Given the description of an element on the screen output the (x, y) to click on. 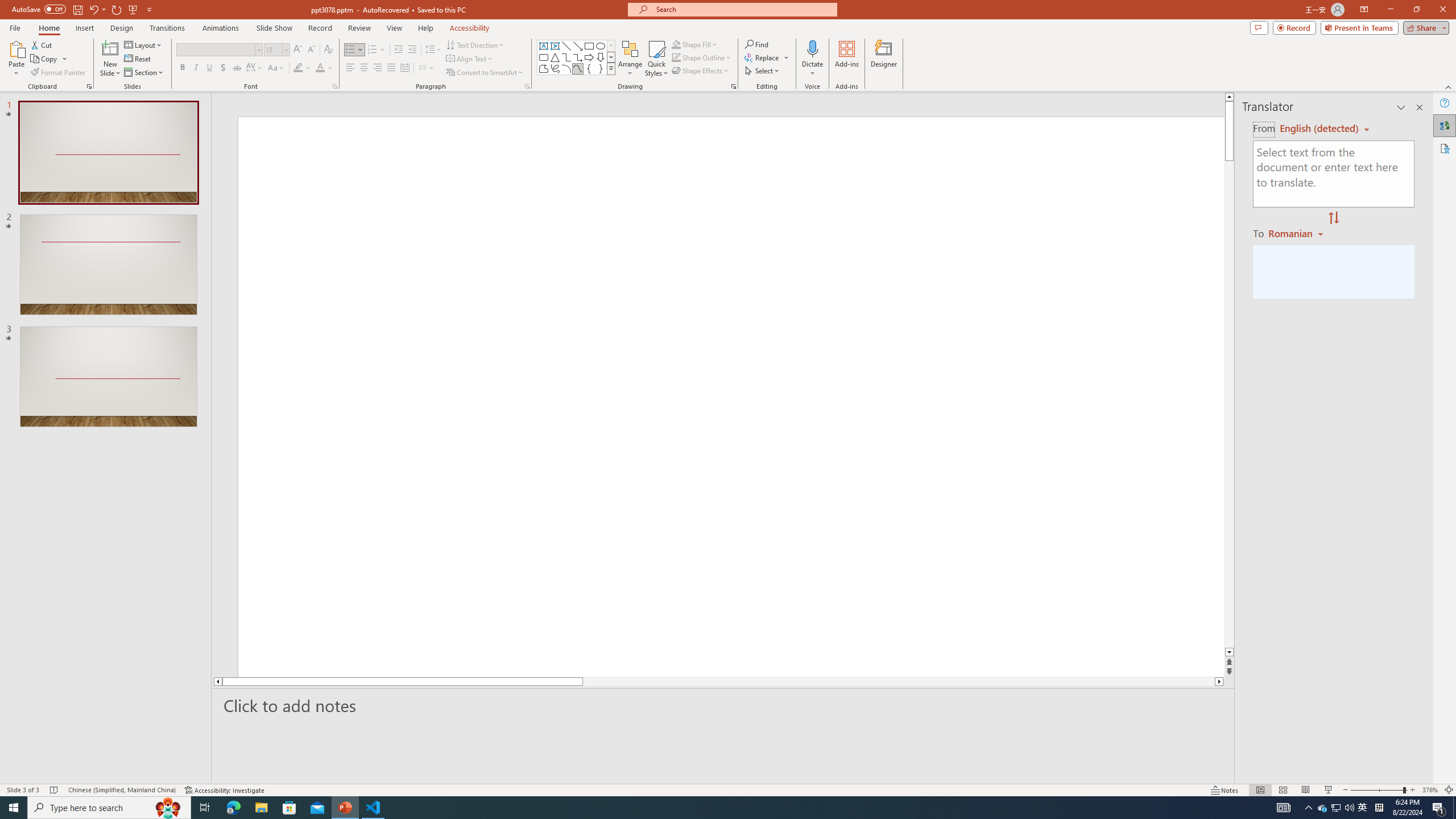
Page down (1229, 404)
Format Painter (58, 72)
Vertical Text Box (554, 45)
Swap "from" and "to" languages. (1333, 218)
Underline (209, 67)
Layout (143, 44)
Character Spacing (254, 67)
Distributed (404, 67)
Shape Fill (694, 44)
